Given the description of an element on the screen output the (x, y) to click on. 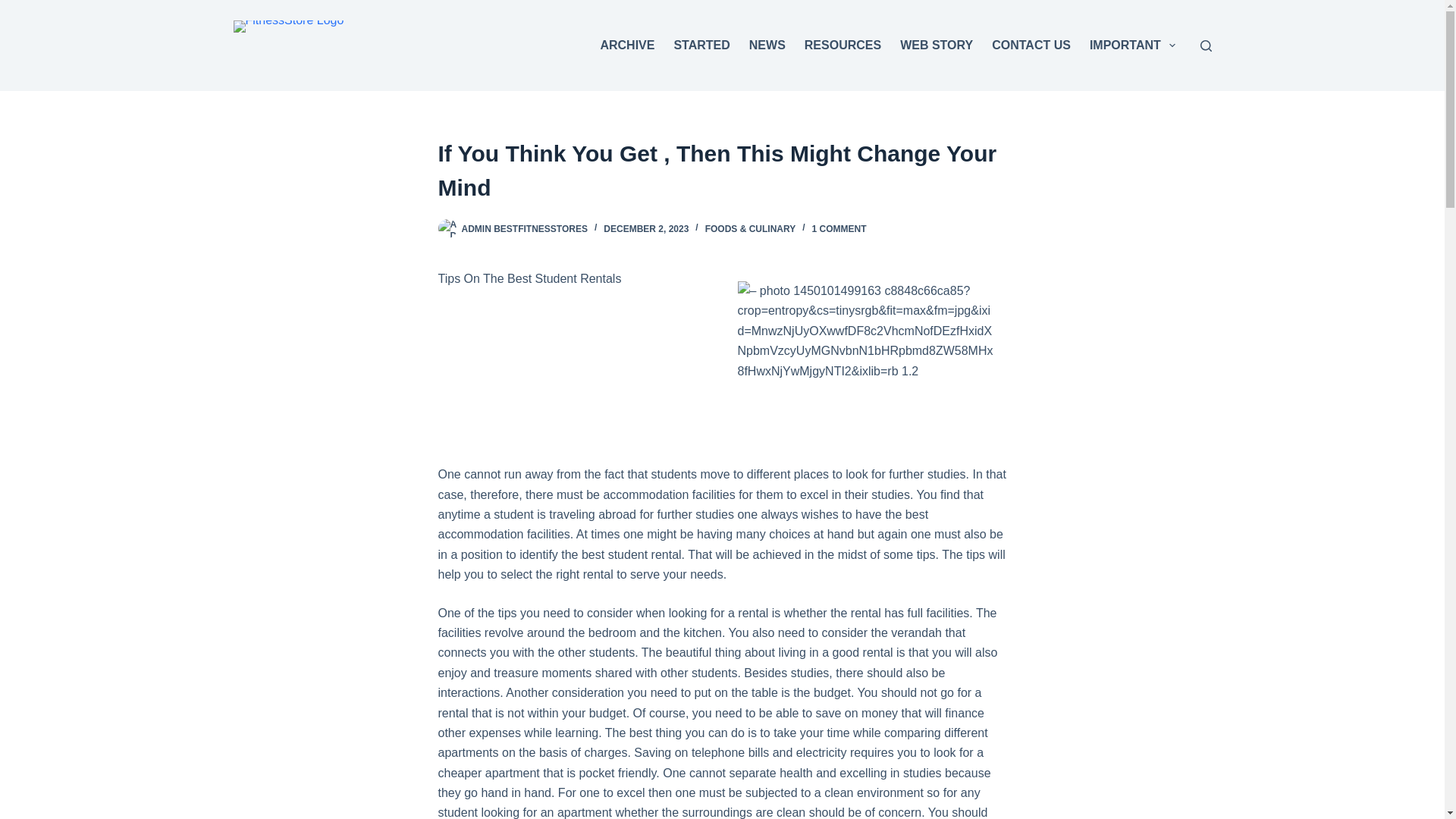
ADMIN BESTFITNESSTORES (523, 228)
CONTACT US (1031, 45)
If You Think You Get , Then This Might Change Your Mind (722, 170)
WEB STORY (936, 45)
1 COMMENT (839, 228)
Skip to content (15, 7)
Posts by Admin bestfitnesstores (523, 228)
IMPORTANT (1132, 45)
RESOURCES (841, 45)
